Given the description of an element on the screen output the (x, y) to click on. 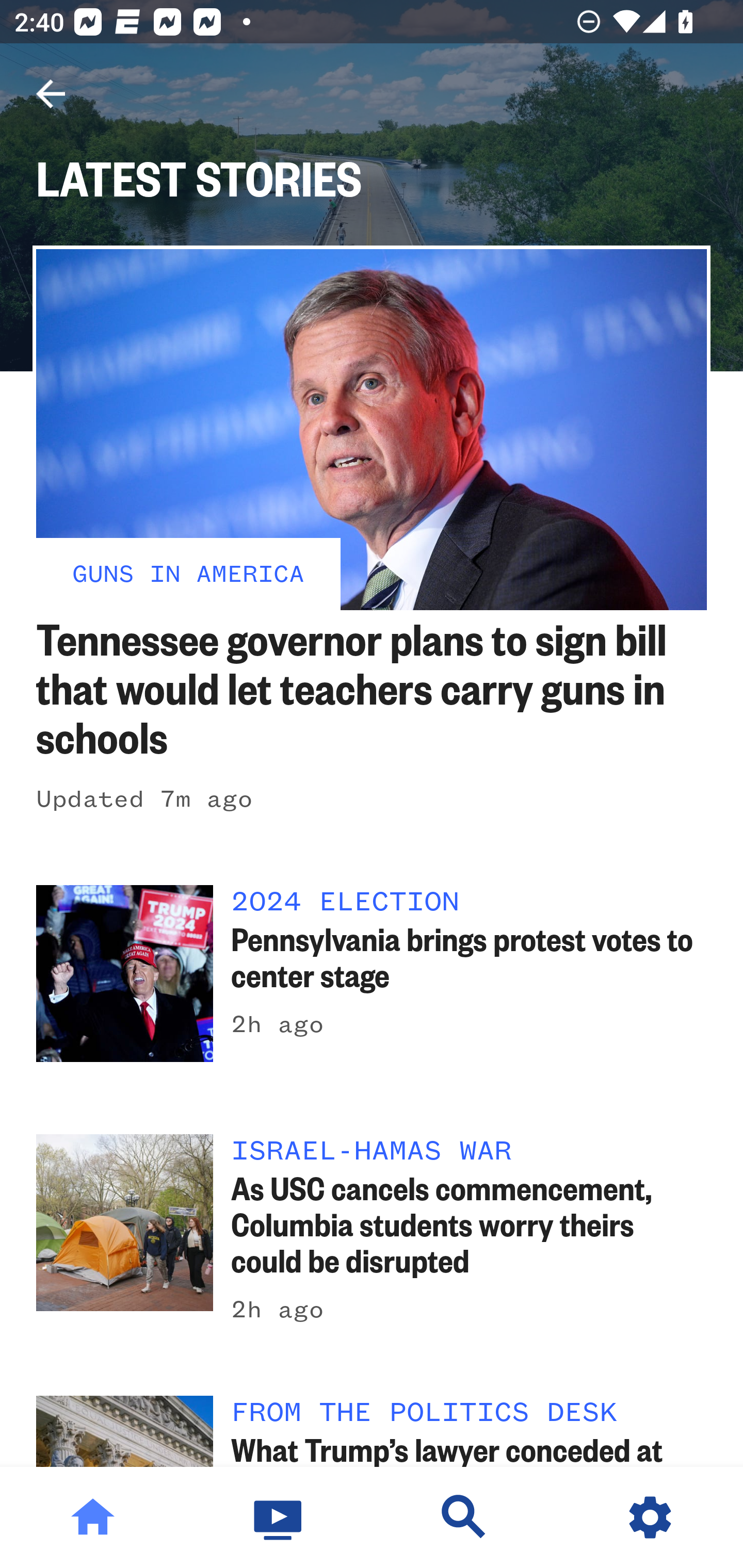
Navigate up (50, 93)
Watch (278, 1517)
Discover (464, 1517)
Settings (650, 1517)
